Given the description of an element on the screen output the (x, y) to click on. 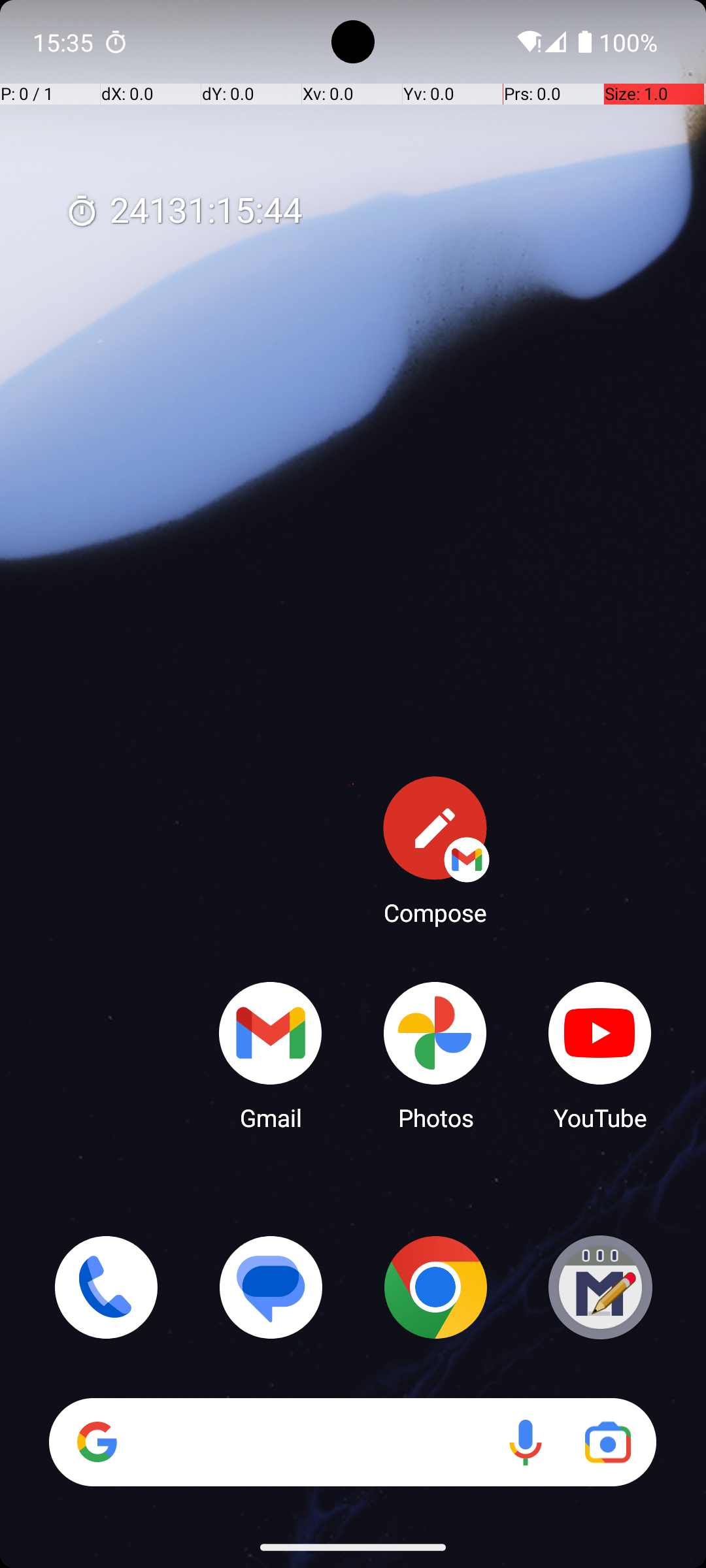
24131:15:44 Element type: android.widget.TextView (183, 210)
